Given the description of an element on the screen output the (x, y) to click on. 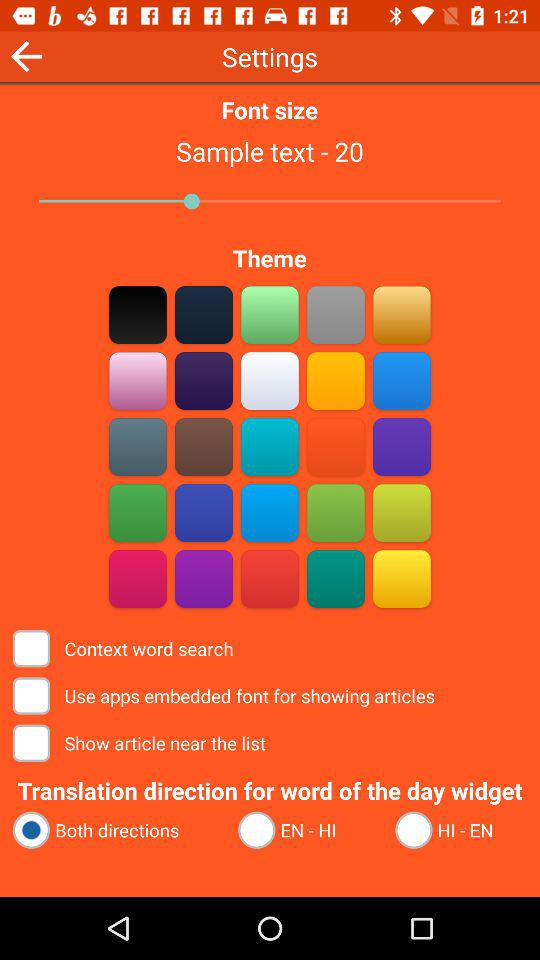
launch item above use apps embedded item (124, 648)
